Given the description of an element on the screen output the (x, y) to click on. 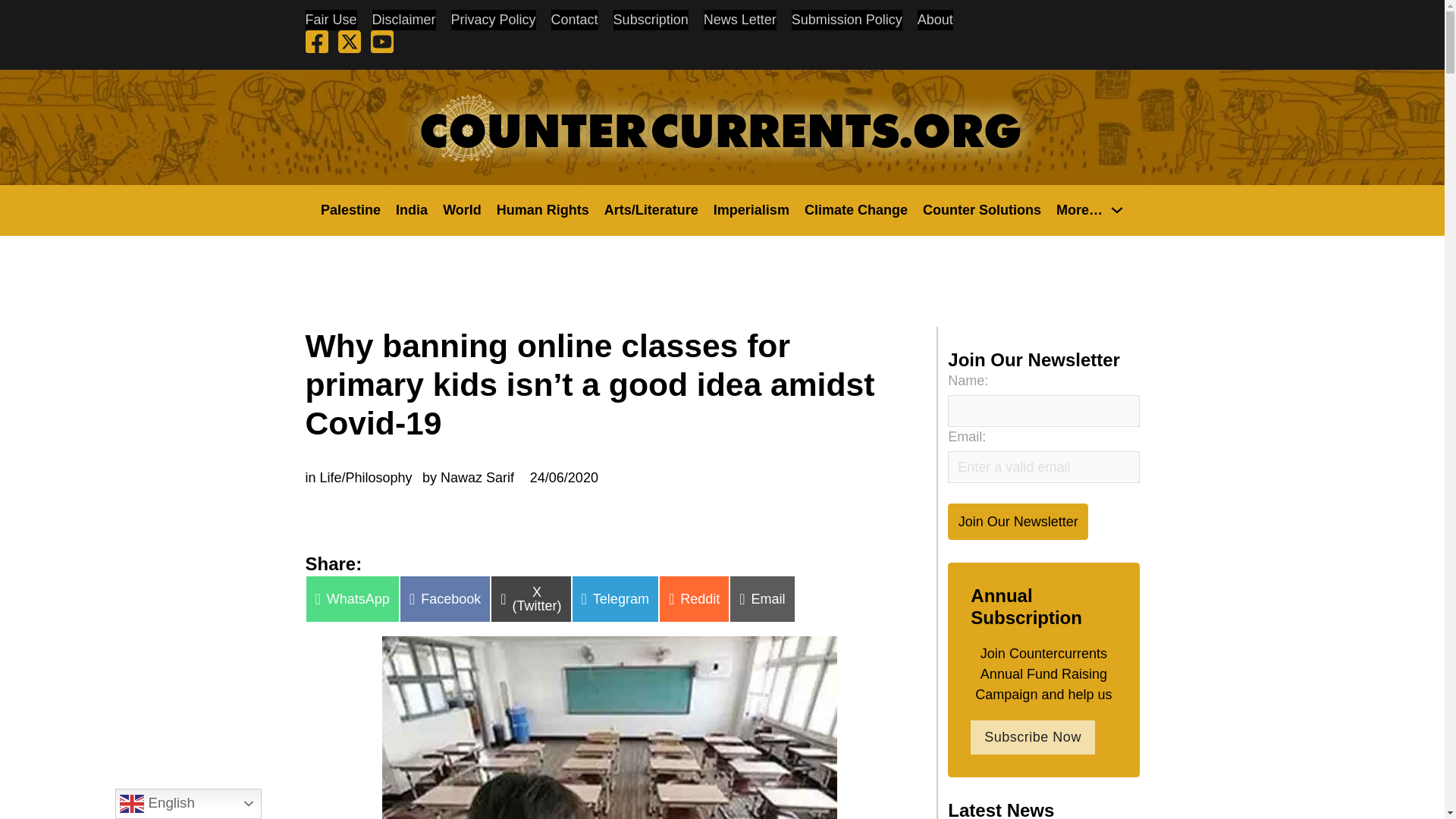
Disclaimer (403, 19)
About (935, 19)
Fair Use (330, 19)
India (412, 209)
News Letter (739, 19)
Join Our Newsletter (1017, 520)
Human Rights (542, 209)
Privacy Policy (493, 19)
Imperialism (751, 209)
Climate Change (856, 209)
